Given the description of an element on the screen output the (x, y) to click on. 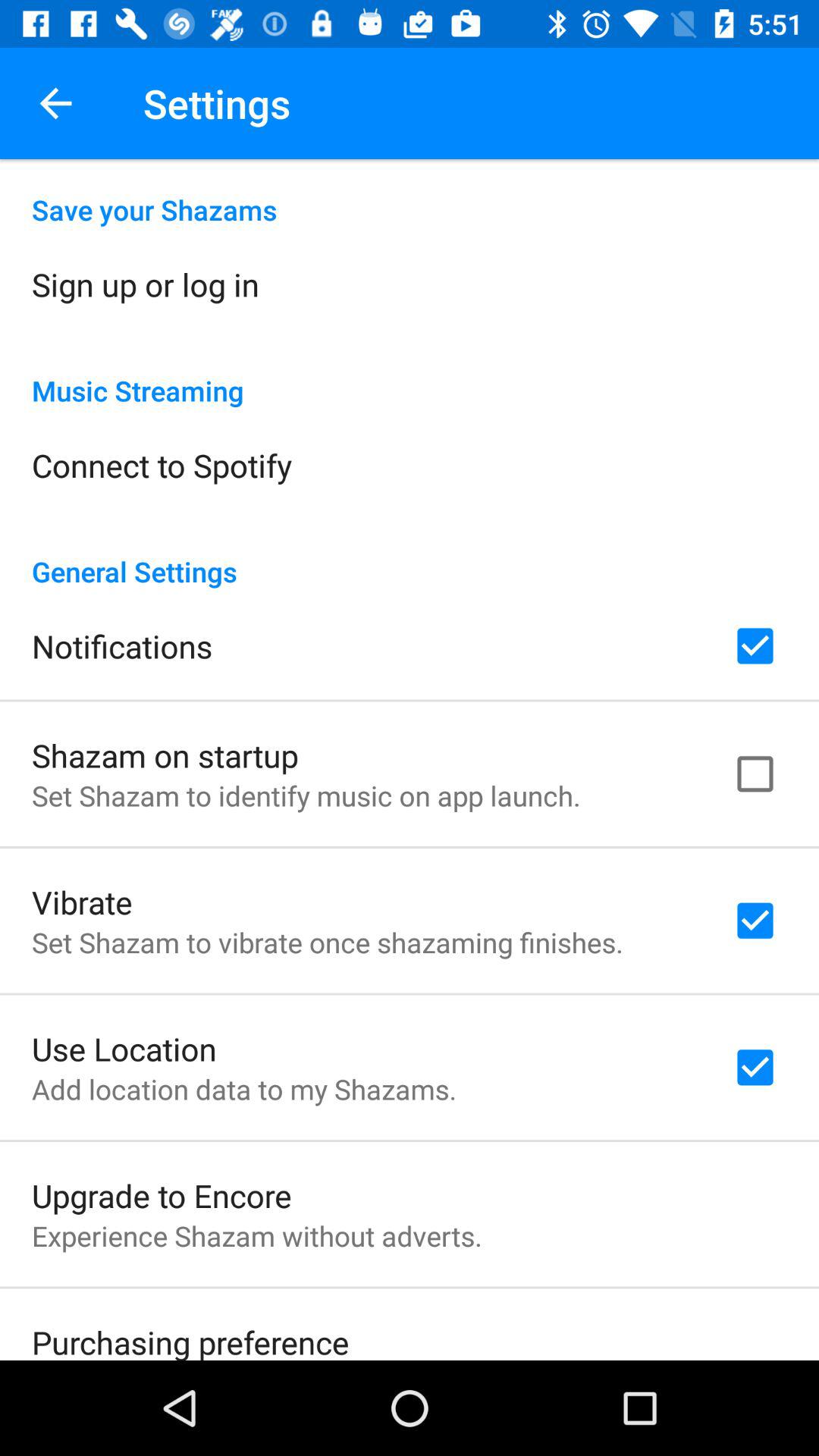
scroll to purchasing preference item (190, 1340)
